Given the description of an element on the screen output the (x, y) to click on. 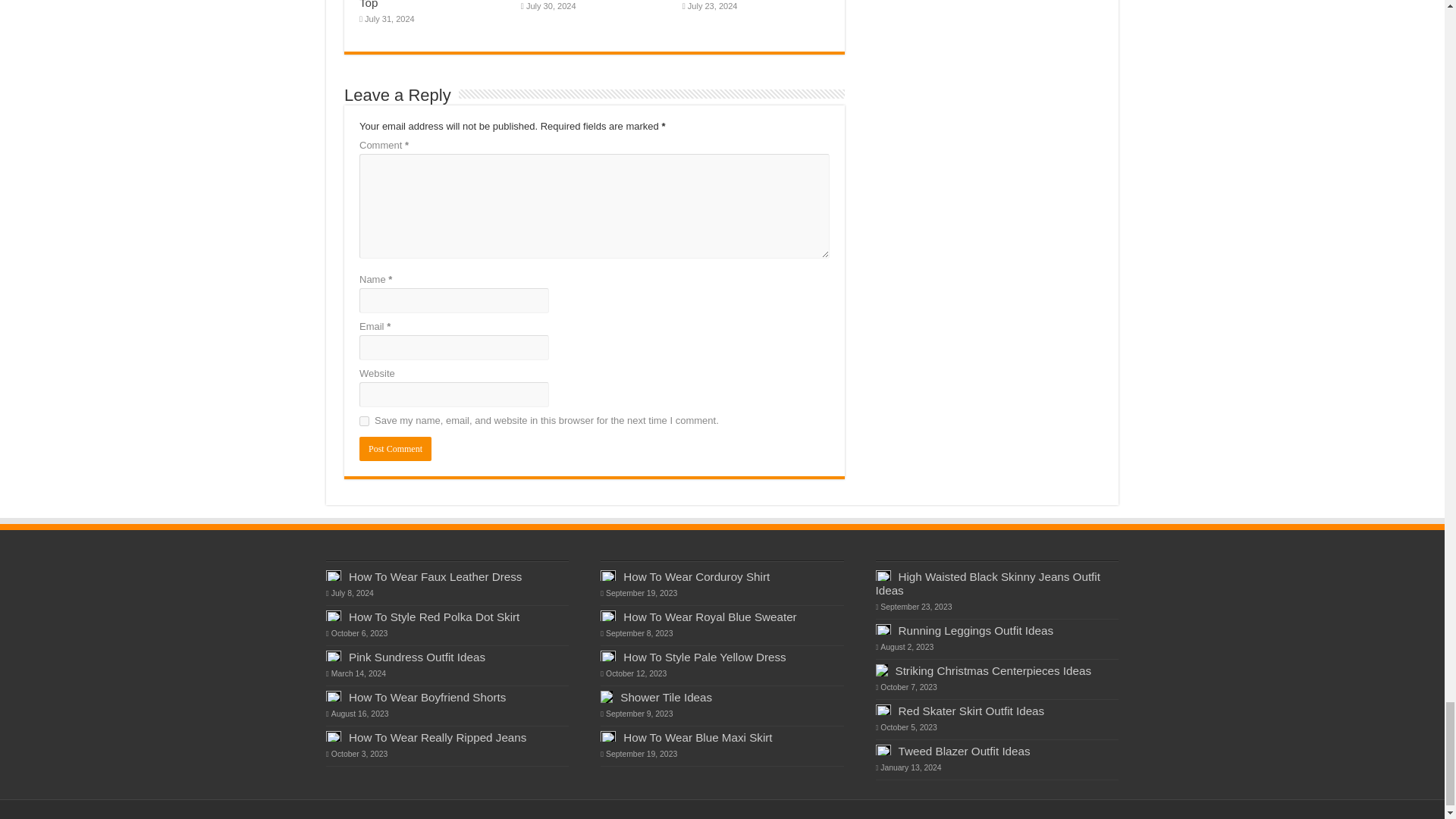
How To Wear Really Ripped Jeans (437, 737)
How To Style White Crochet Top (430, 4)
Post Comment (394, 448)
Pink Sundress Outfit Ideas (416, 656)
How To Wear Boyfriend Shorts (427, 697)
Post Comment (394, 448)
How To Wear Royal Blue Sweater (709, 616)
Shower Tile Ideas (665, 697)
How To Wear Corduroy Shirt (696, 576)
How To Style Pale Yellow Dress (704, 656)
